Given the description of an element on the screen output the (x, y) to click on. 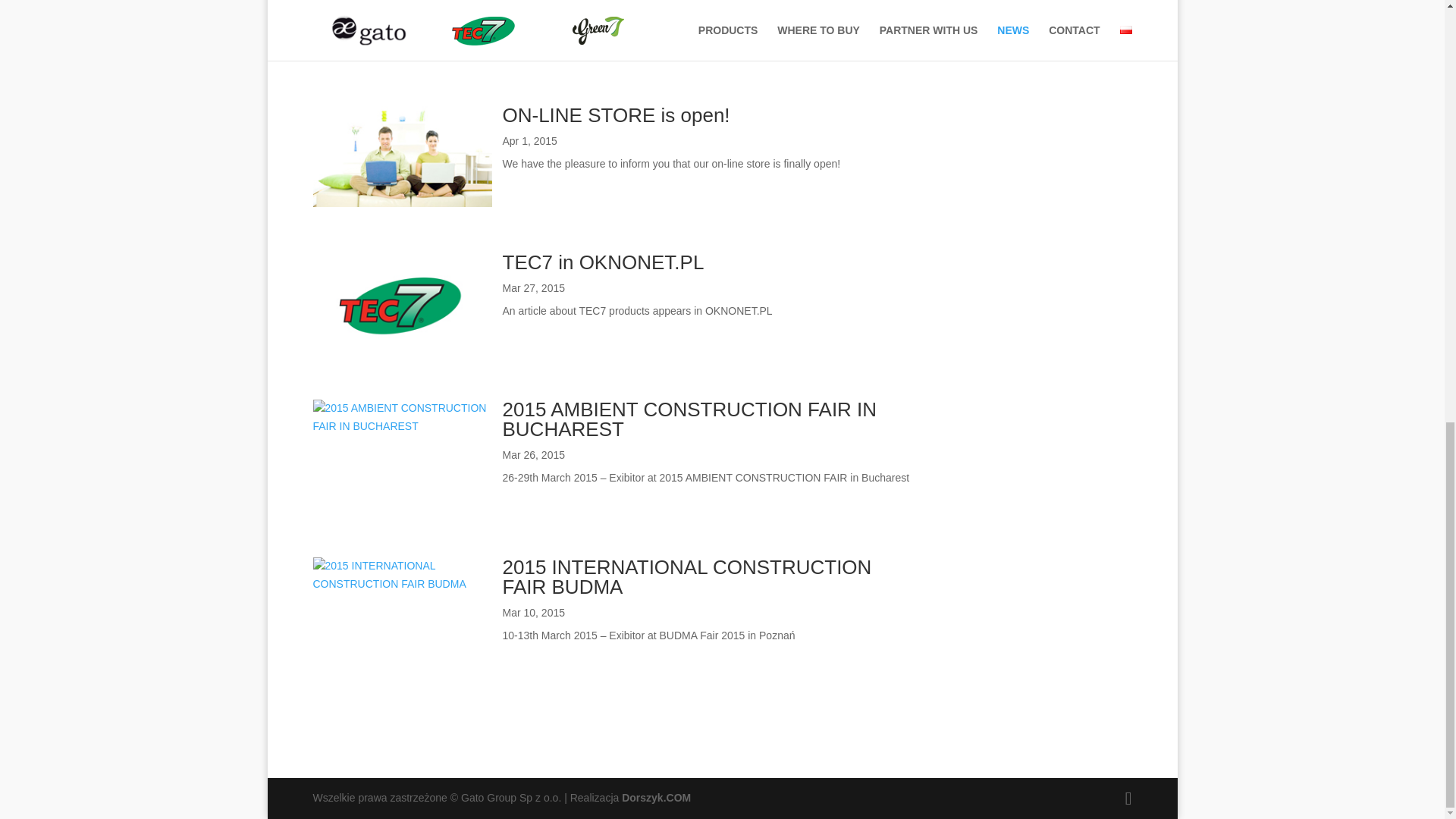
2015 INTERNATIONAL CONSTRUCTION FAIR BUDMA (686, 577)
ON-LINE STORE is open! (615, 115)
2015 AMBIENT CONSTRUCTION FAIR IN BUCHAREST (689, 419)
TEC7 in OKNONET.PL (602, 261)
